Given the description of an element on the screen output the (x, y) to click on. 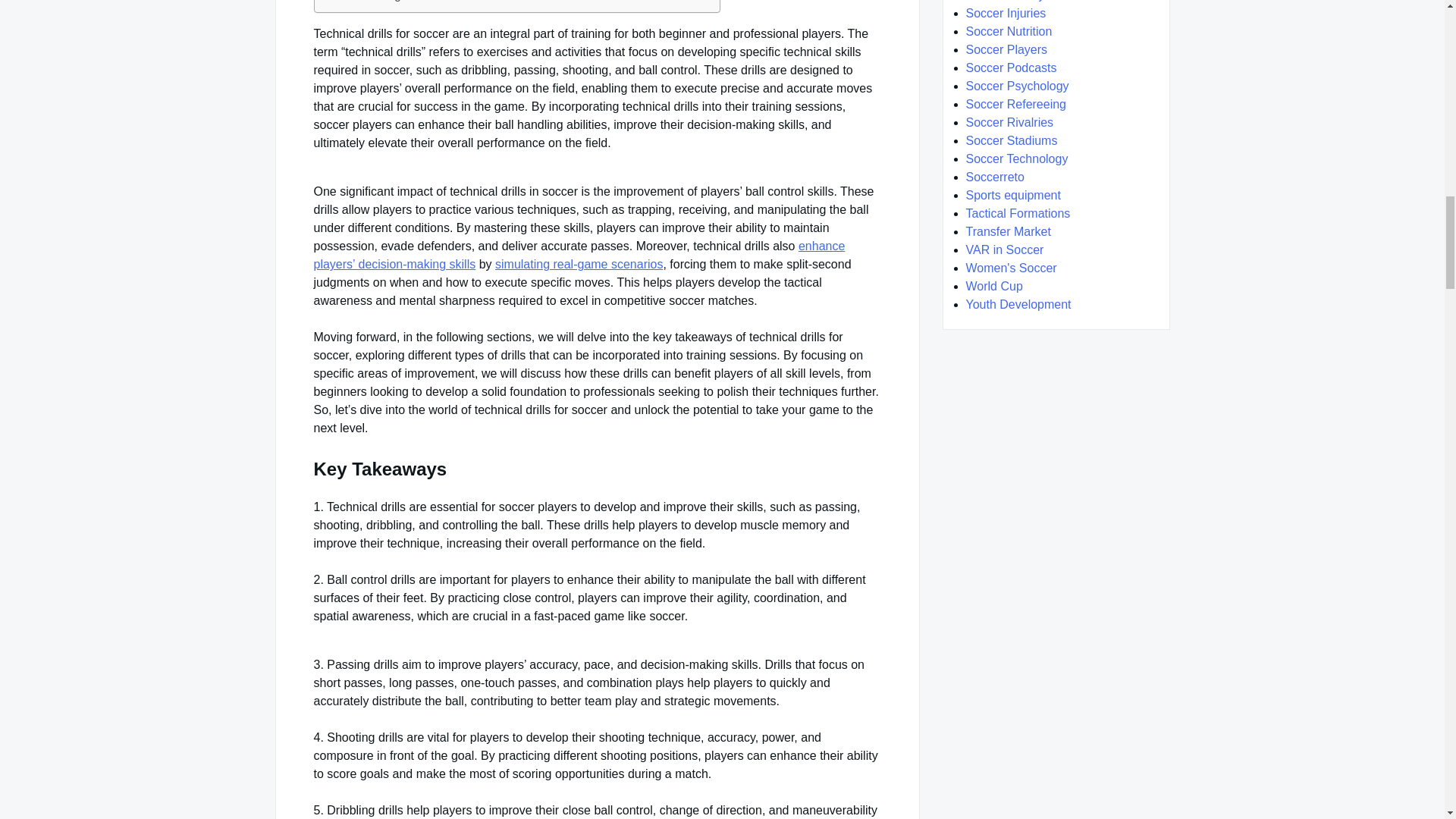
simulating real-game scenarios (578, 264)
Final Thoughts (367, 2)
